Given the description of an element on the screen output the (x, y) to click on. 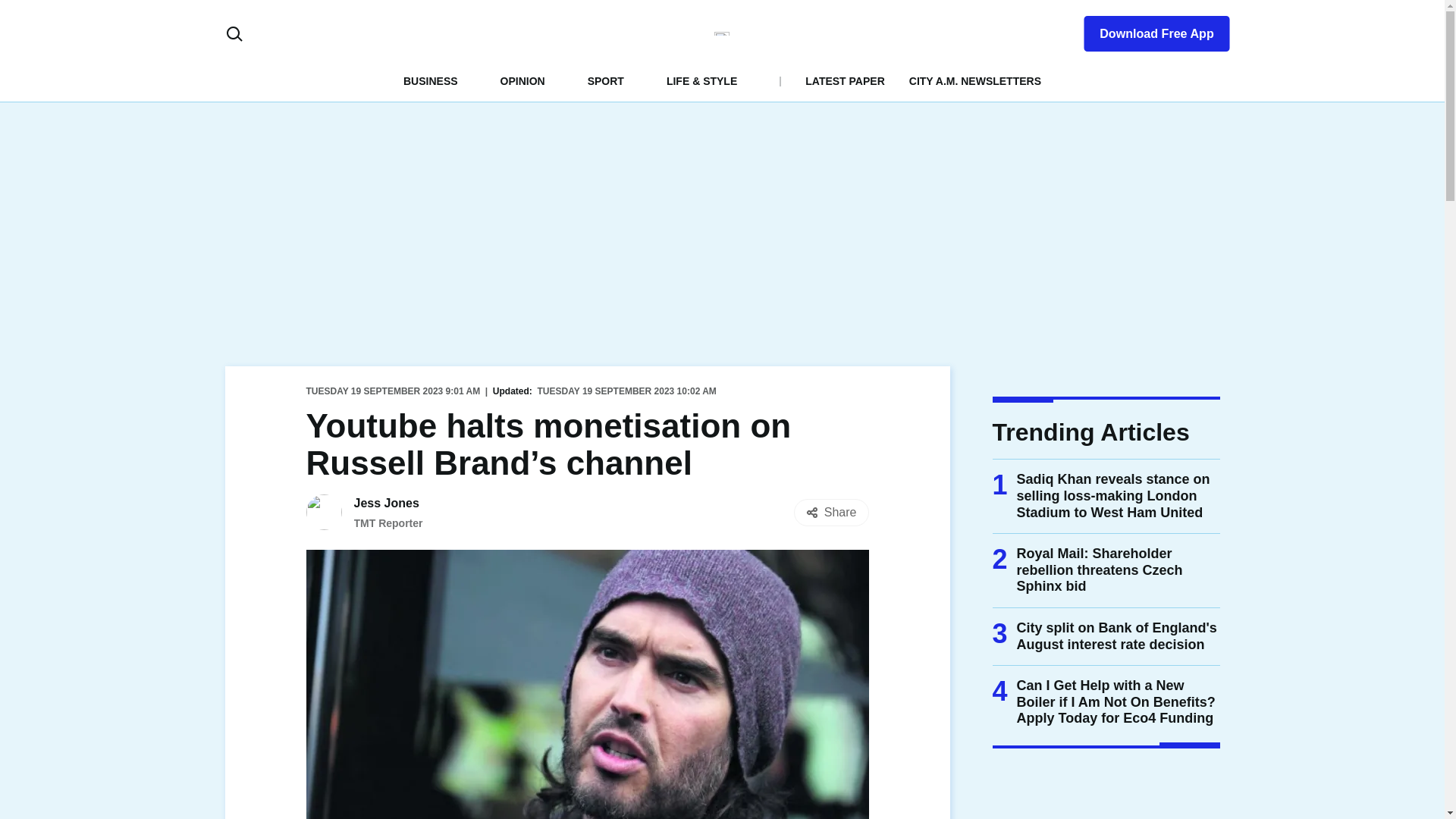
OPINION (522, 80)
Download Free App (1146, 30)
SPORT (606, 80)
CityAM (721, 33)
BUSINESS (430, 80)
